Given the description of an element on the screen output the (x, y) to click on. 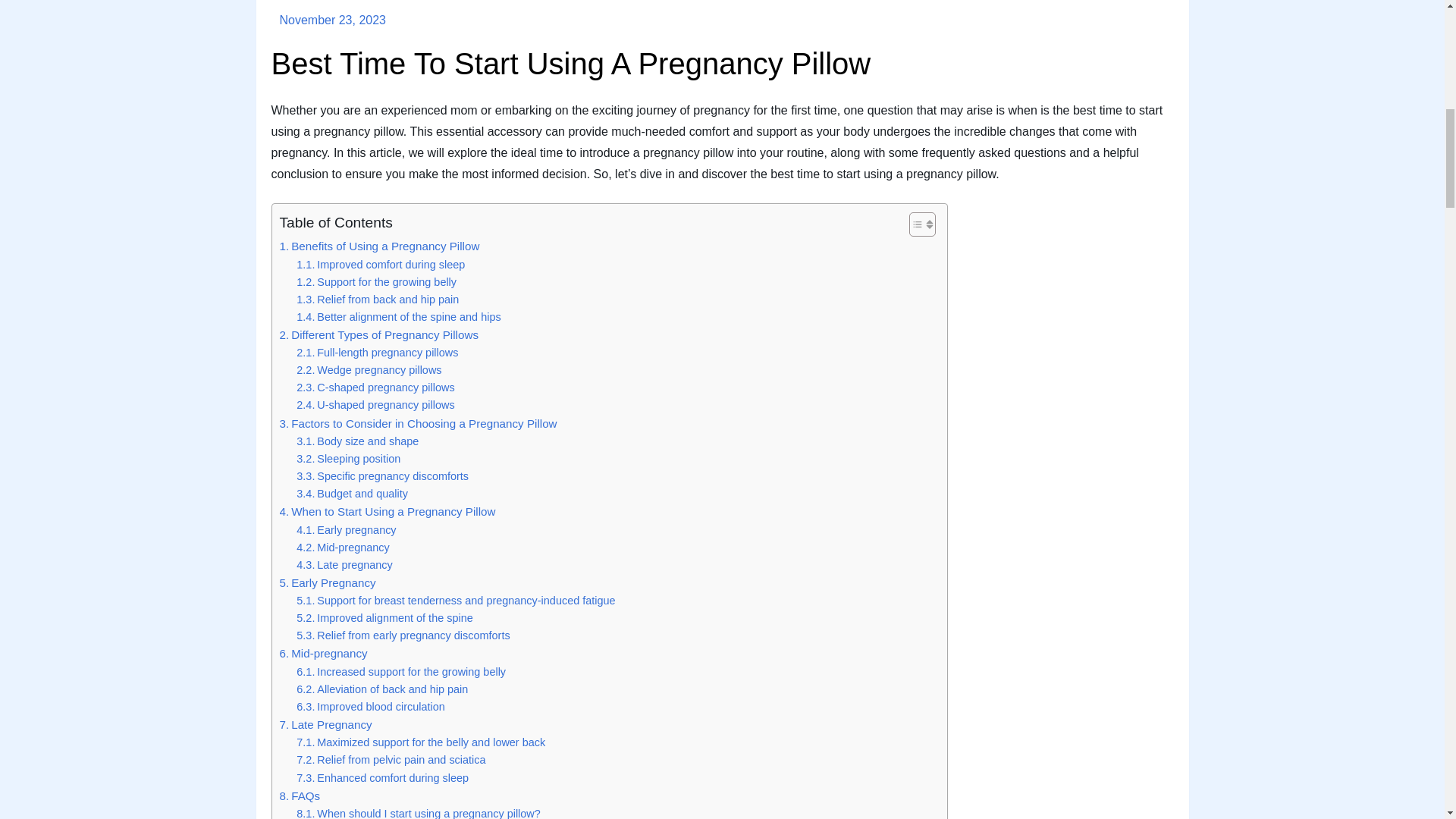
Factors to Consider in Choosing a Pregnancy Pillow (417, 423)
Wedge pregnancy pillows (369, 370)
Support for breast tenderness and pregnancy-induced fatigue (455, 600)
Relief from back and hip pain (377, 299)
Relief from early pregnancy discomforts (403, 635)
Specific pregnancy discomforts (382, 476)
Different Types of Pregnancy Pillows (379, 334)
Body size and shape (358, 441)
November 23, 2023 (332, 19)
Budget and quality (352, 493)
Budget and quality (352, 493)
Benefits of Using a Pregnancy Pillow (379, 246)
Sleeping position (348, 458)
Improved comfort during sleep (380, 264)
U-shaped pregnancy pillows (375, 405)
